Given the description of an element on the screen output the (x, y) to click on. 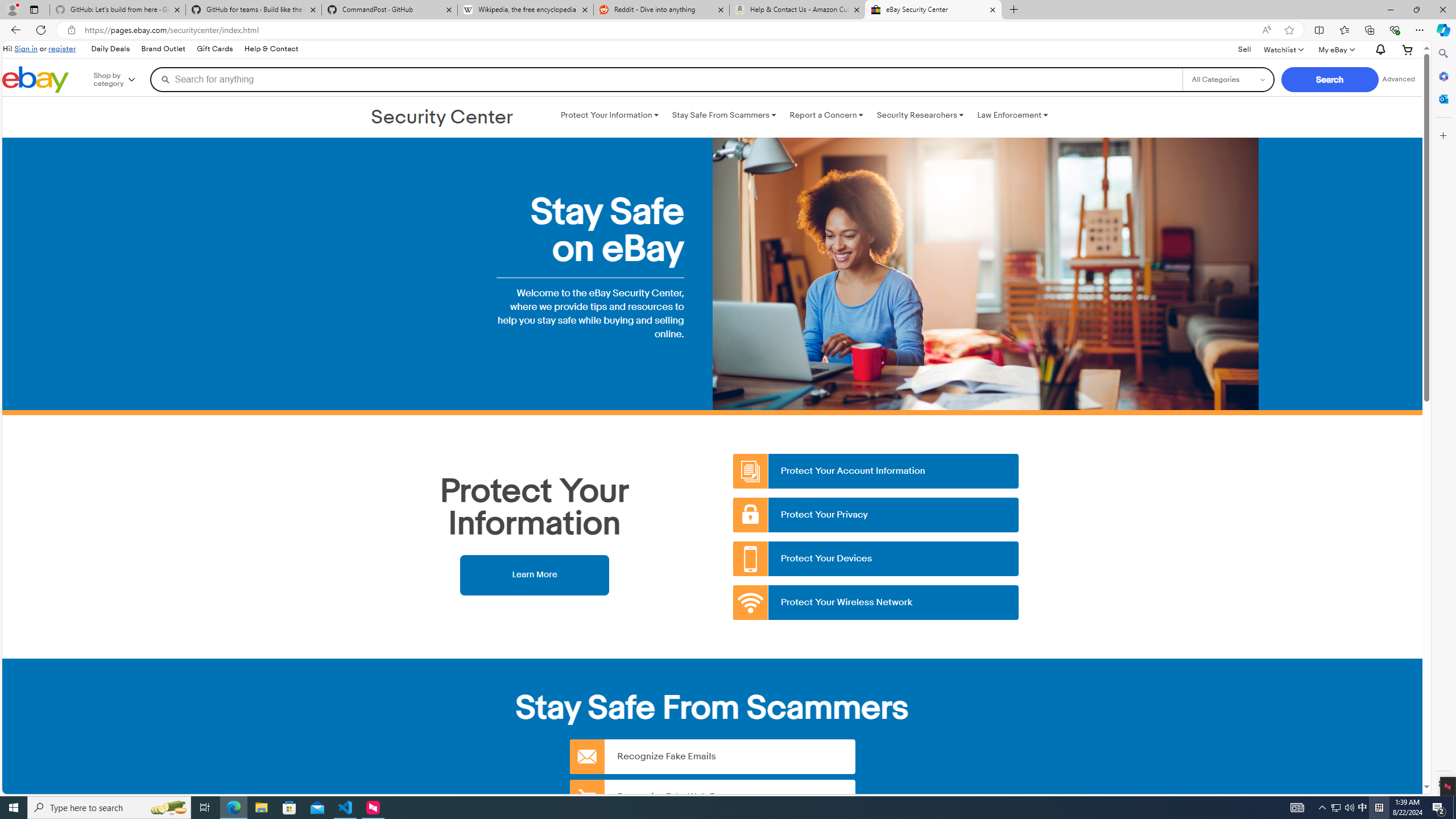
Stay Safe From Scammers  (723, 115)
Gift Cards (214, 49)
My eBay (1335, 49)
Stay Safe From Scammers  (723, 115)
Favorites (1344, 29)
My eBayExpand My eBay (1335, 49)
Customize (1442, 135)
Microsoft 365 (1442, 76)
Advanced Search (1398, 78)
Recognize Fake Web Pages (712, 796)
Address and search bar (669, 29)
